Given the description of an element on the screen output the (x, y) to click on. 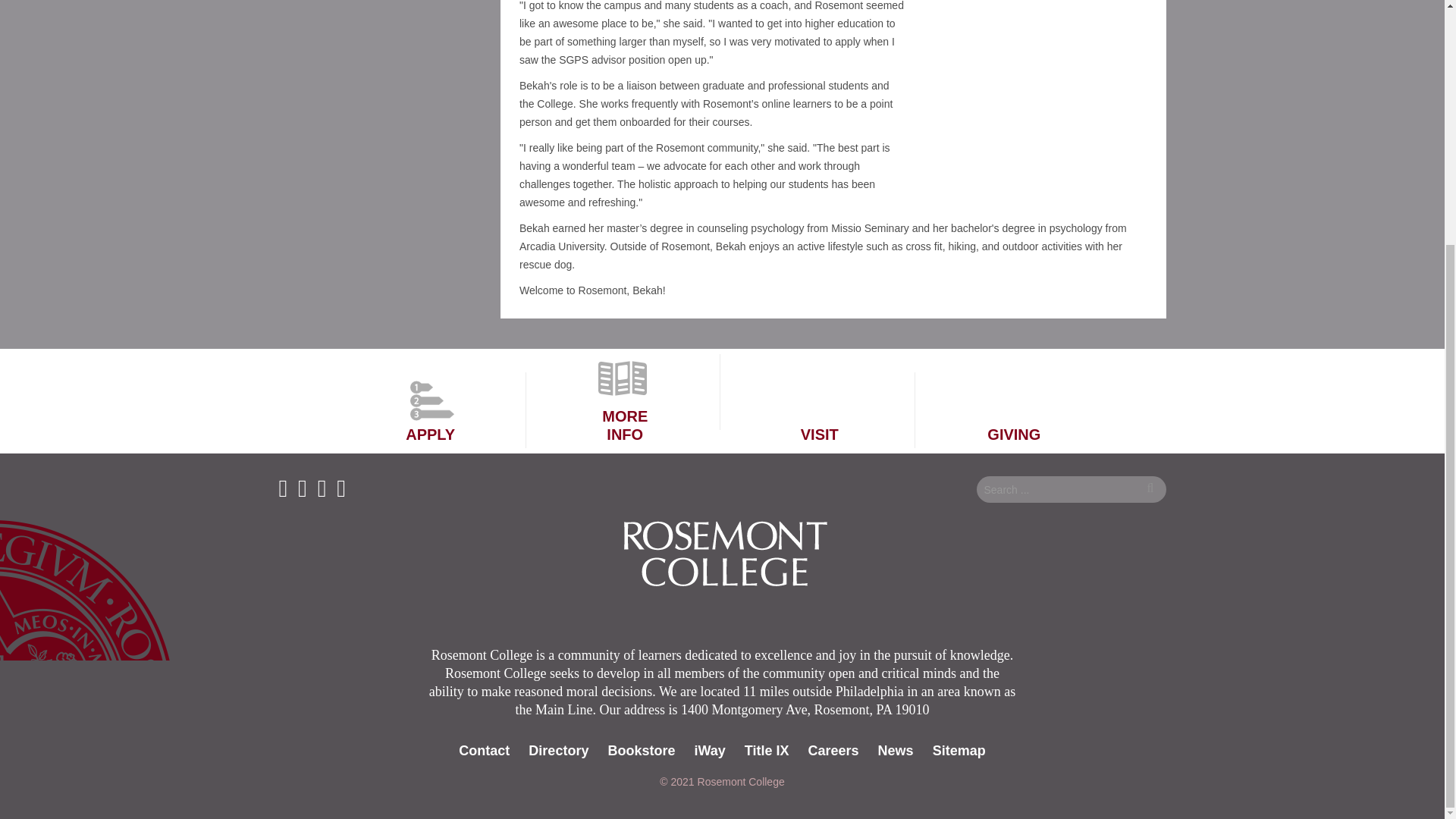
request-for-information (624, 391)
Bekah Good (1024, 100)
suppert-rosemont (1013, 409)
